Given the description of an element on the screen output the (x, y) to click on. 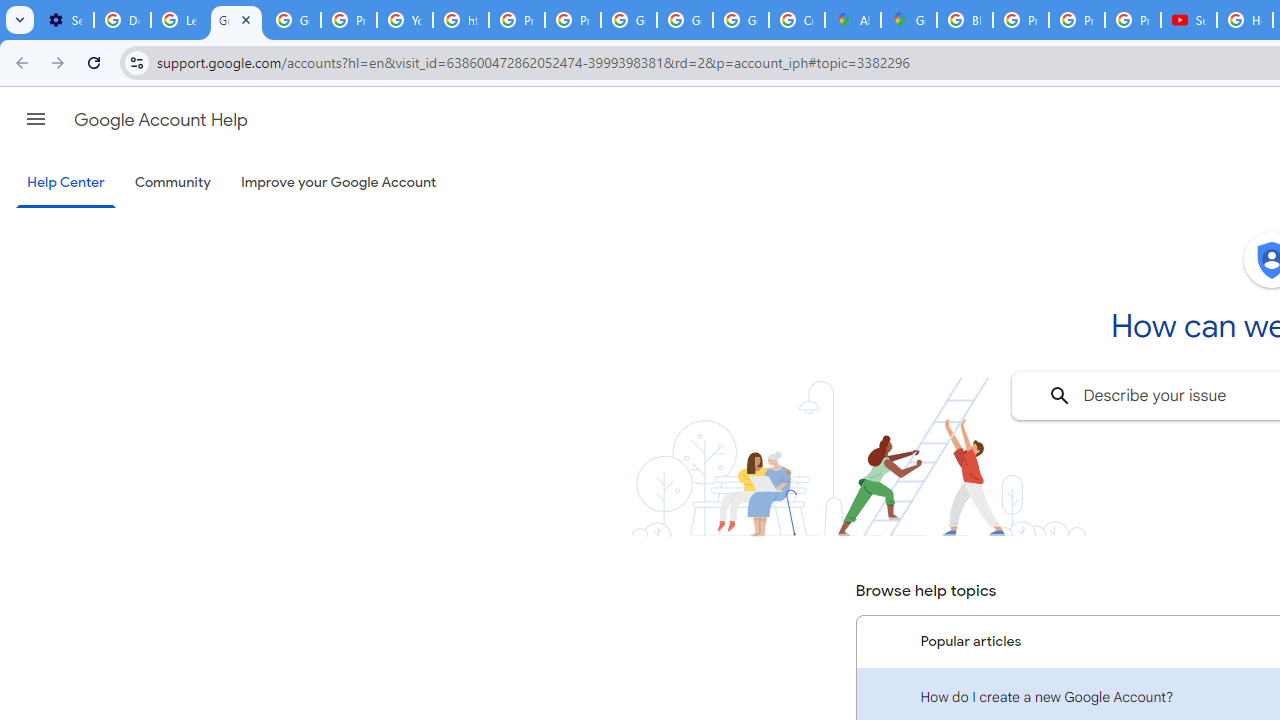
Blogger Policies and Guidelines - Transparency Center (965, 20)
Create your Google Account (797, 20)
Privacy Help Center - Policies Help (1076, 20)
Subscriptions - YouTube (1189, 20)
